Given the description of an element on the screen output the (x, y) to click on. 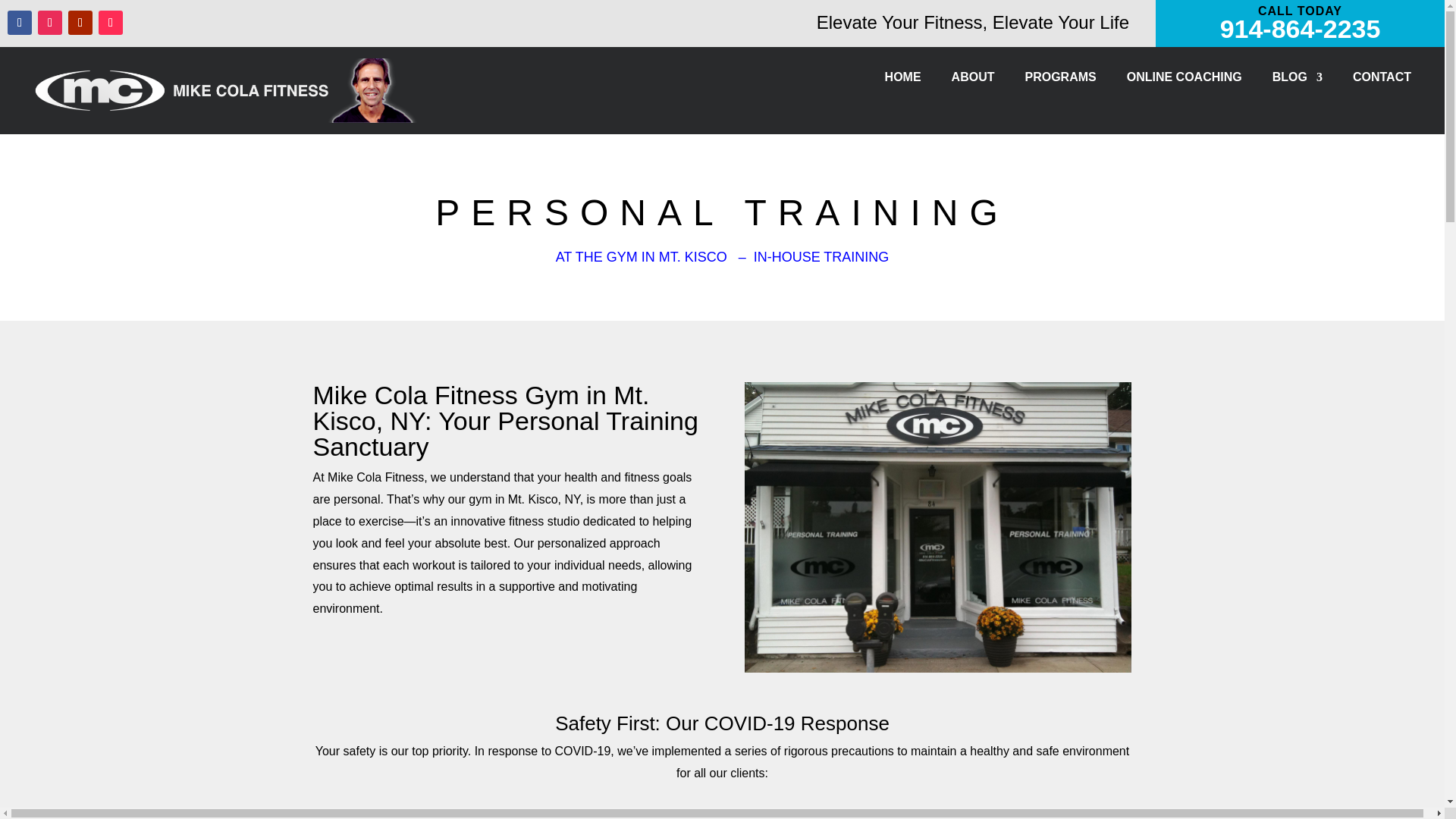
Follow on Instagram (49, 22)
ONLINE COACHING (1183, 80)
Follow on TikTok (110, 22)
AT THE GYM IN MT. KISCO (641, 256)
logo2-2023-mikecolafitness (232, 90)
Follow on Youtube (80, 22)
PROGRAMS (1060, 80)
HOME (903, 80)
IN-HOUSE TRAINING (821, 256)
BLOG (1297, 80)
ABOUT (973, 80)
Follow on Facebook (19, 22)
Mike Cola Fitness Gym in Mt. Kisco, NY (937, 527)
CONTACT (1381, 80)
